Given the description of an element on the screen output the (x, y) to click on. 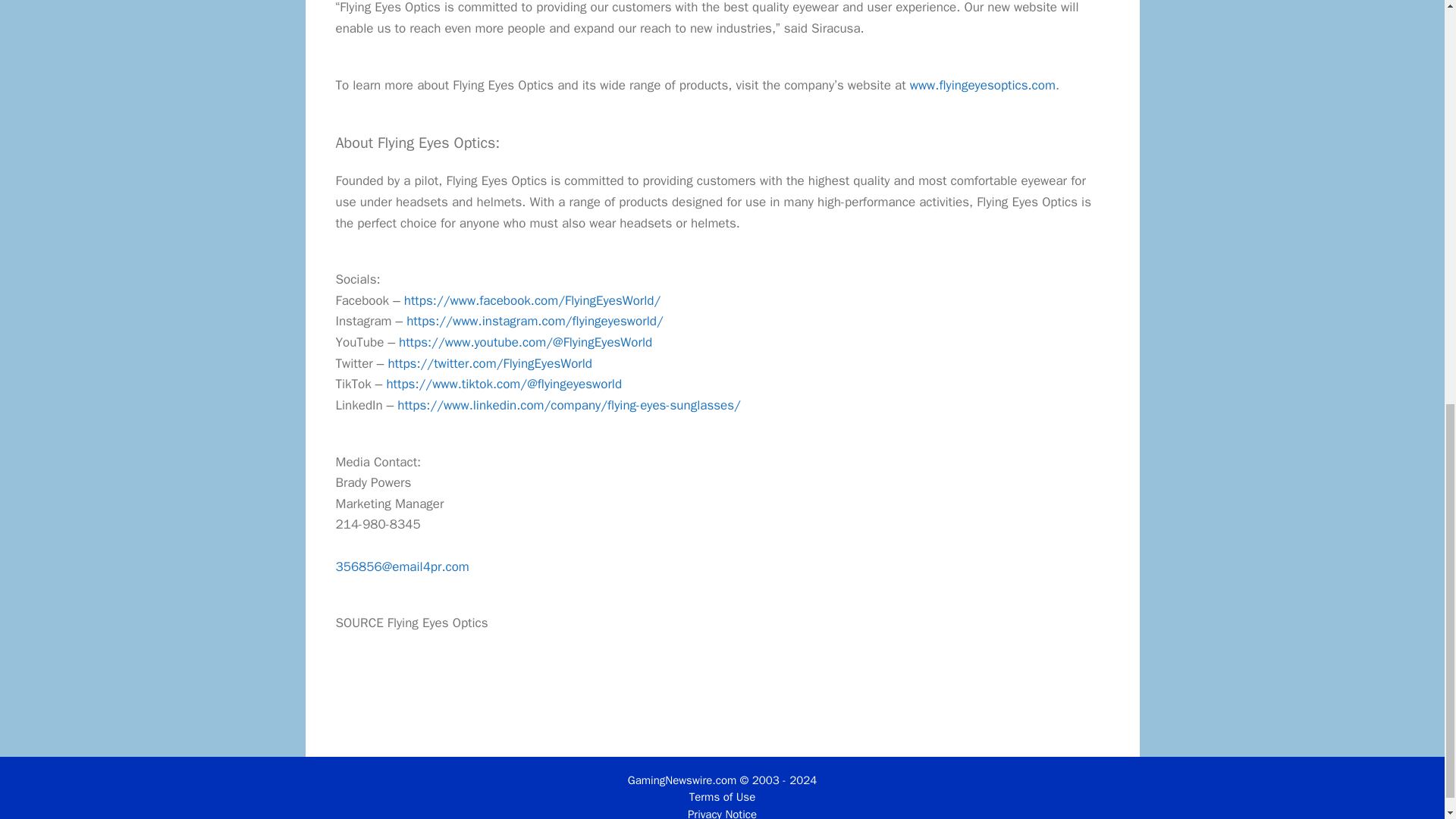
www.flyingeyesoptics.com (982, 84)
Terms of Use (721, 796)
Privacy Notice (722, 813)
